Given the description of an element on the screen output the (x, y) to click on. 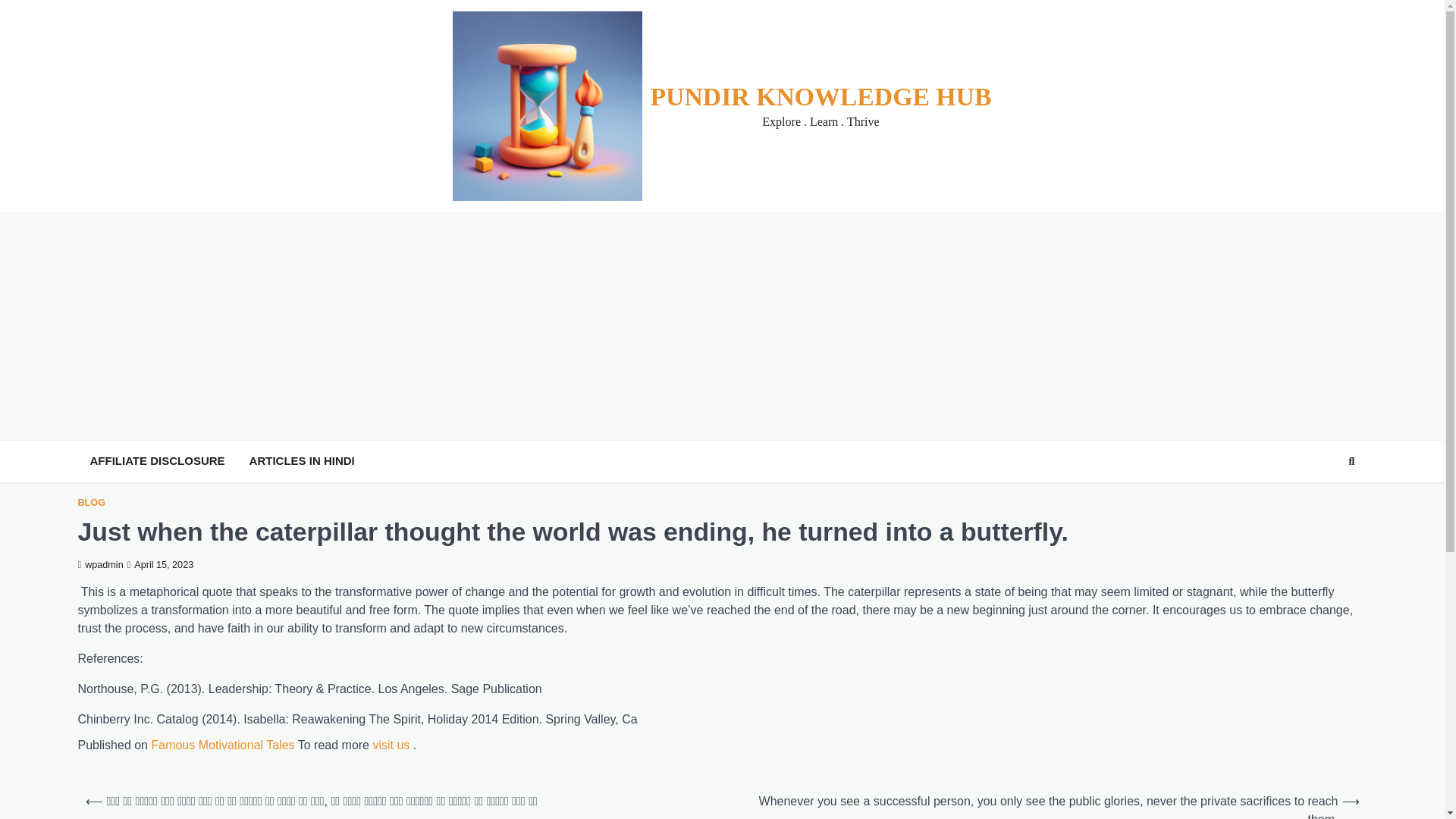
AFFILIATE DISCLOSURE (156, 461)
ARTICLES IN HINDI (302, 461)
Search (1351, 461)
Search (1323, 497)
April 15, 2023 (160, 564)
Famous Motivational Tales (222, 744)
PUNDIR KNOWLEDGE HUB (820, 96)
wpadmin (99, 564)
visit us (390, 744)
